Given the description of an element on the screen output the (x, y) to click on. 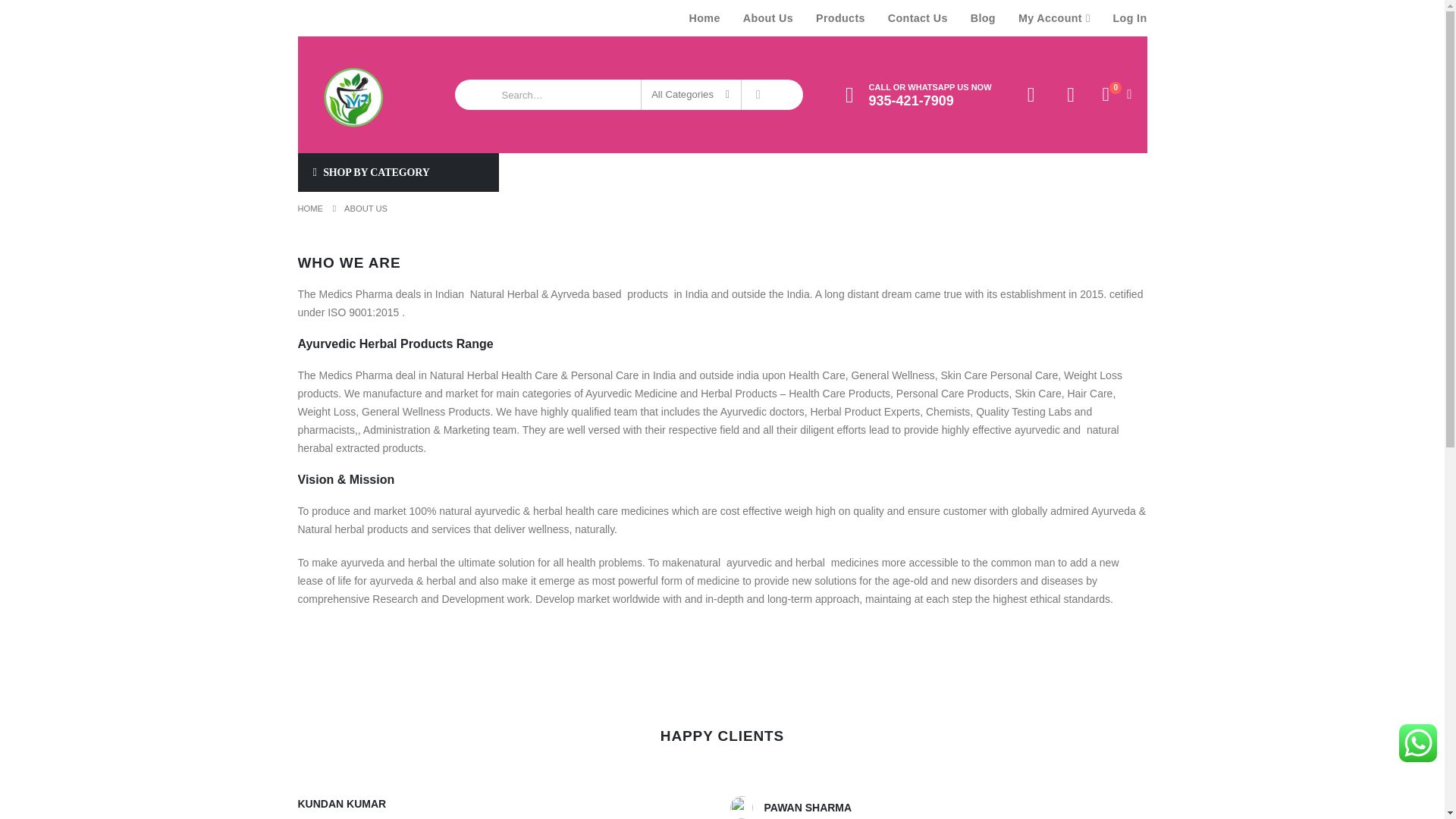
Log In (1124, 17)
Go to Home Page (310, 208)
HOME (310, 208)
Products (840, 17)
About Us (768, 17)
Home (705, 17)
Search (757, 94)
My Account (1030, 95)
Medics Pharma - Herbal Health Care Products (350, 94)
My Account (1054, 17)
